Given the description of an element on the screen output the (x, y) to click on. 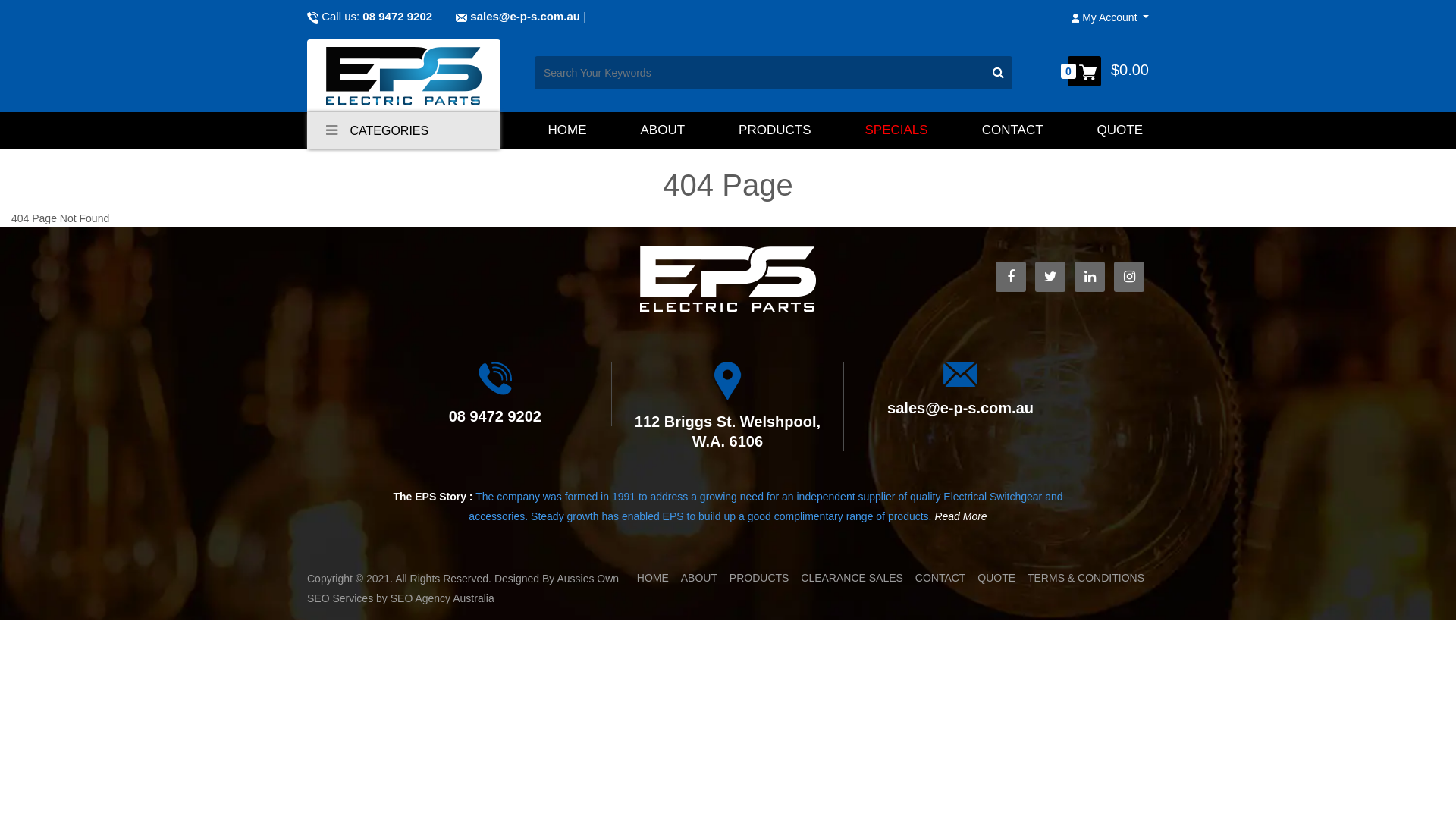
08 9472 9202 Element type: text (494, 415)
HOME Element type: text (567, 130)
CONTACT Element type: text (1012, 130)
TERMS & CONDITIONS Element type: text (1085, 577)
ABOUT Element type: text (662, 130)
SEO Agency Australia Element type: text (442, 598)
sales@e-p-s.com.au Element type: text (960, 407)
QUOTE Element type: text (996, 577)
My Account Element type: text (1109, 17)
CLEARANCE SALES Element type: text (851, 577)
HOME Element type: text (652, 577)
sales@e-p-s.com.au Element type: text (525, 15)
CONTACT Element type: text (940, 577)
QUOTE Element type: text (1119, 130)
08 9472 9202 Element type: text (397, 15)
SEO Services Element type: text (340, 598)
0
$0.00 Element type: text (1107, 71)
PRODUCTS Element type: text (774, 130)
Read More Element type: text (960, 516)
SPECIALS Element type: text (895, 130)
PRODUCTS Element type: text (759, 577)
Aussies Own Element type: text (587, 578)
ABOUT Element type: text (698, 577)
